Given the description of an element on the screen output the (x, y) to click on. 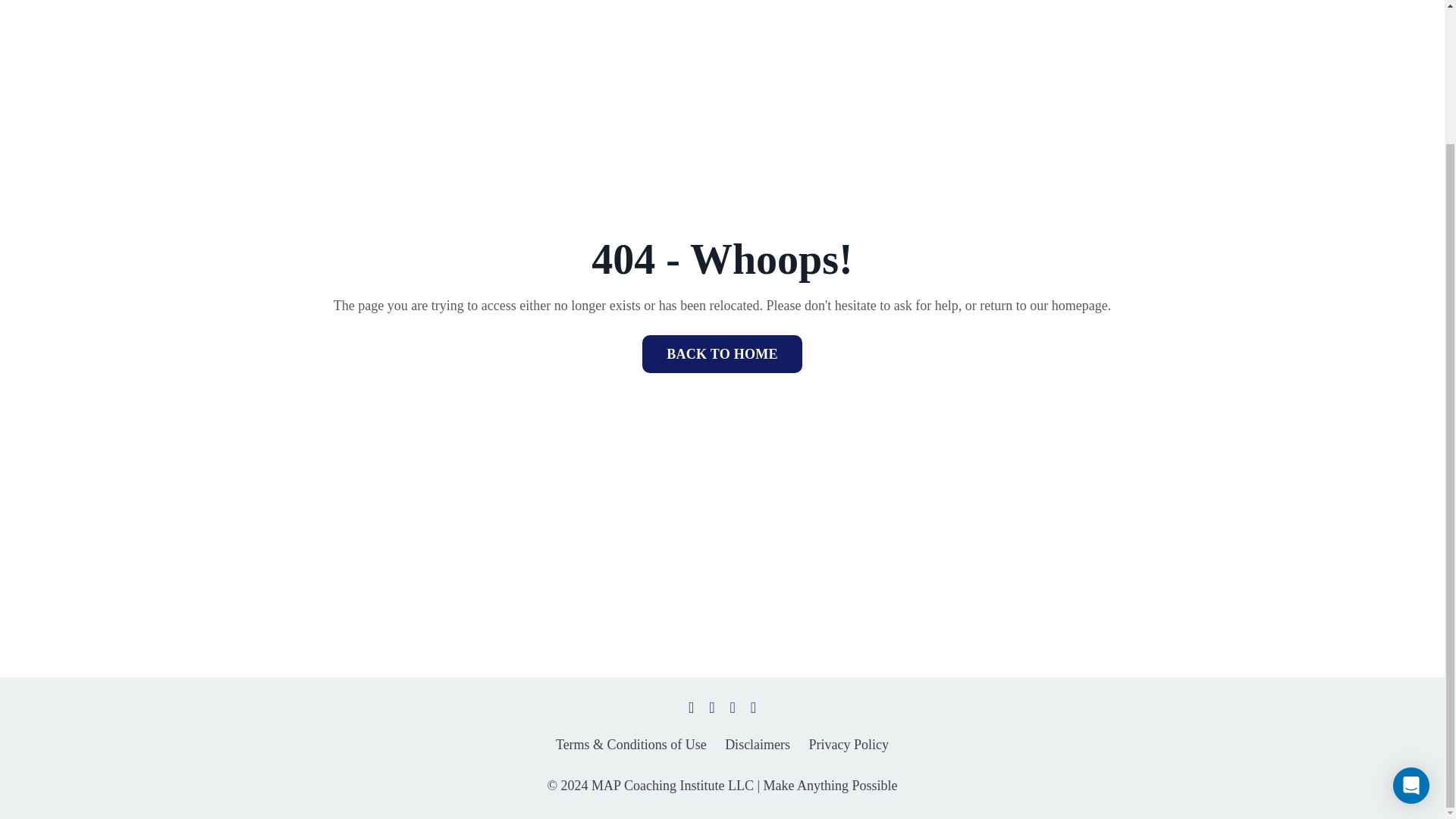
BACK TO HOME (722, 353)
Privacy Policy (849, 744)
Disclaimers (757, 744)
